Given the description of an element on the screen output the (x, y) to click on. 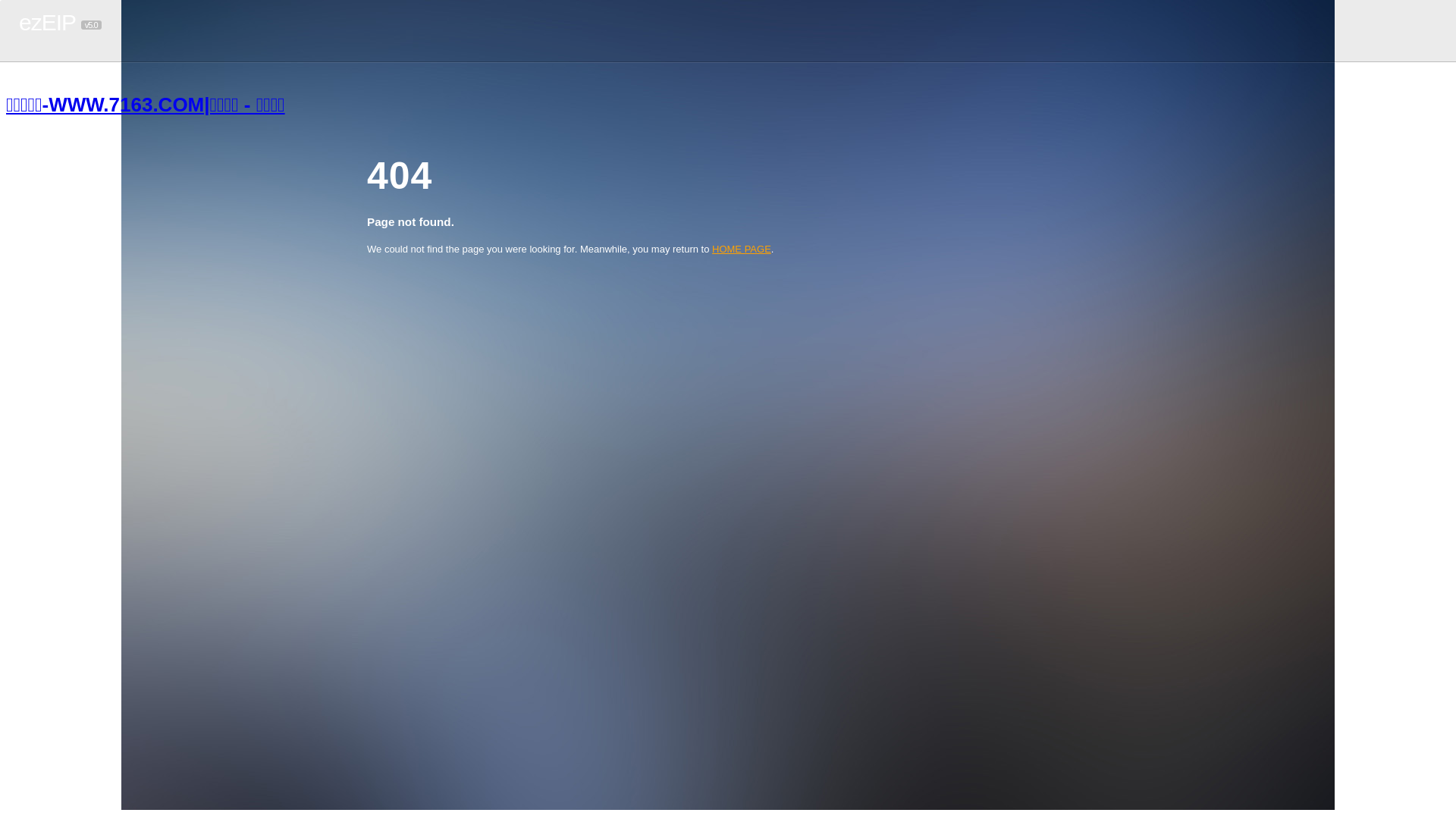
HOME PAGE Element type: text (741, 248)
